Given the description of an element on the screen output the (x, y) to click on. 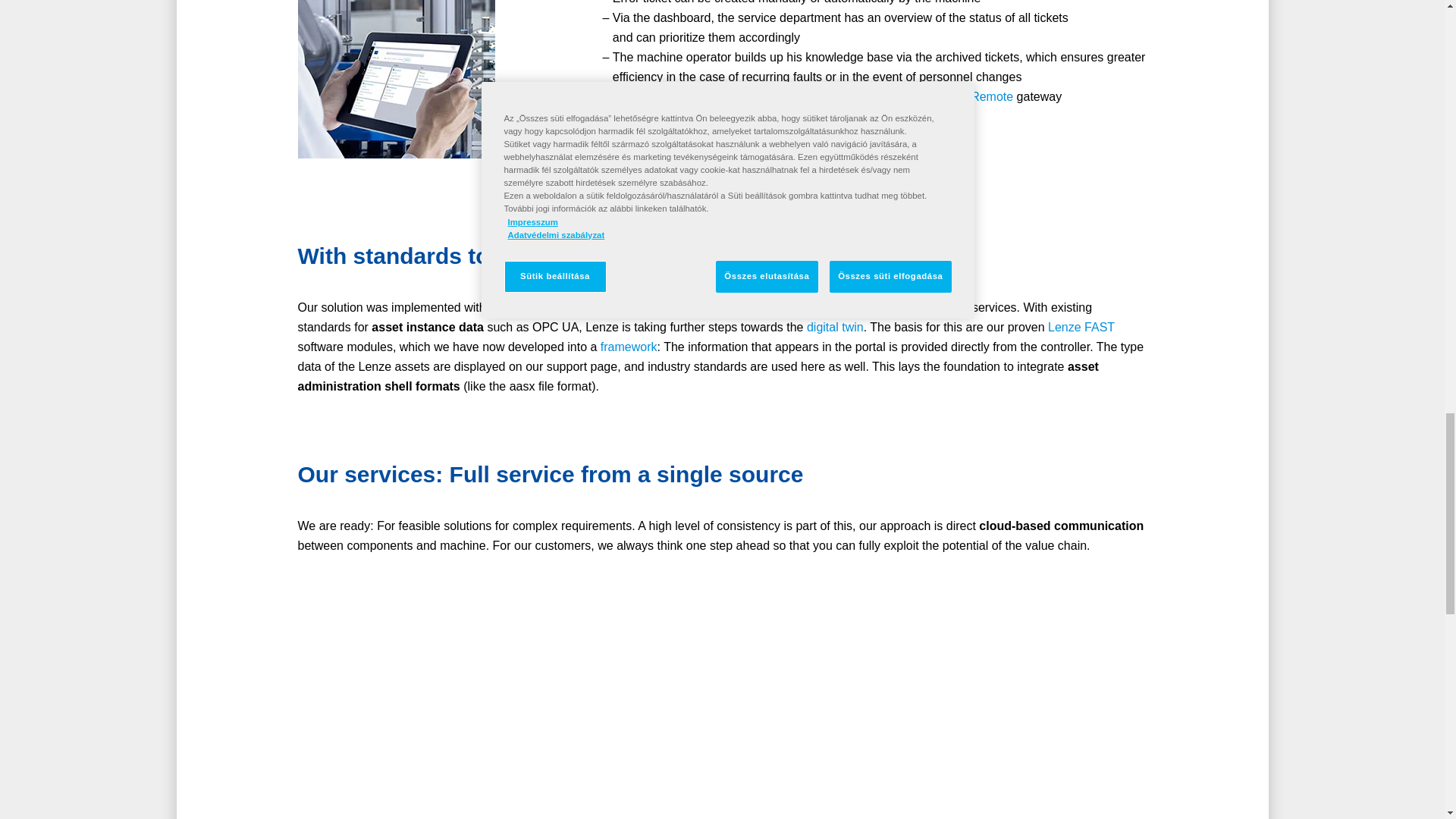
X4 Remote (982, 96)
Digital twin (834, 327)
Lenze Automation System (579, 307)
